Given the description of an element on the screen output the (x, y) to click on. 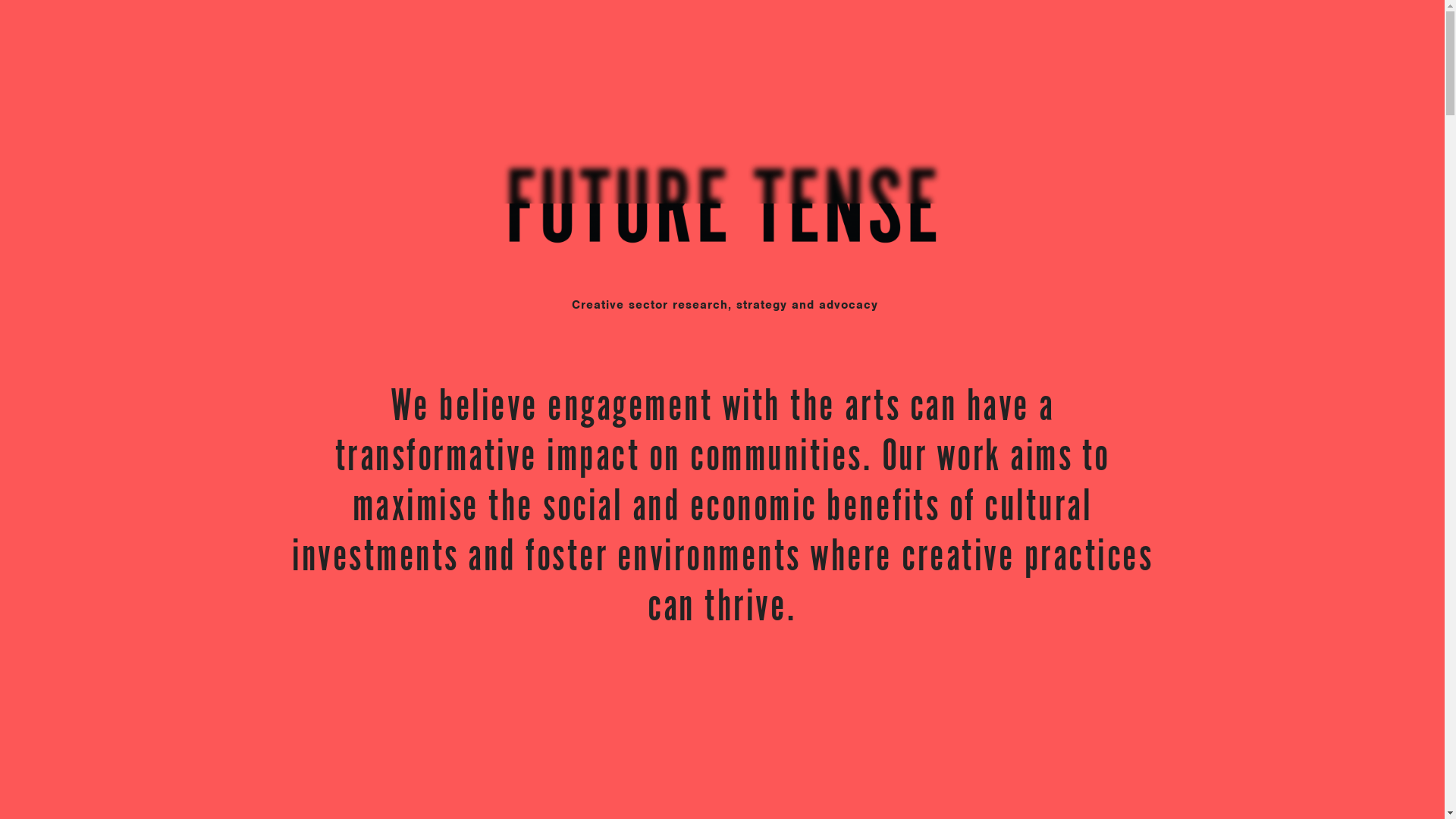
Skip to content Element type: text (0, 0)
